Given the description of an element on the screen output the (x, y) to click on. 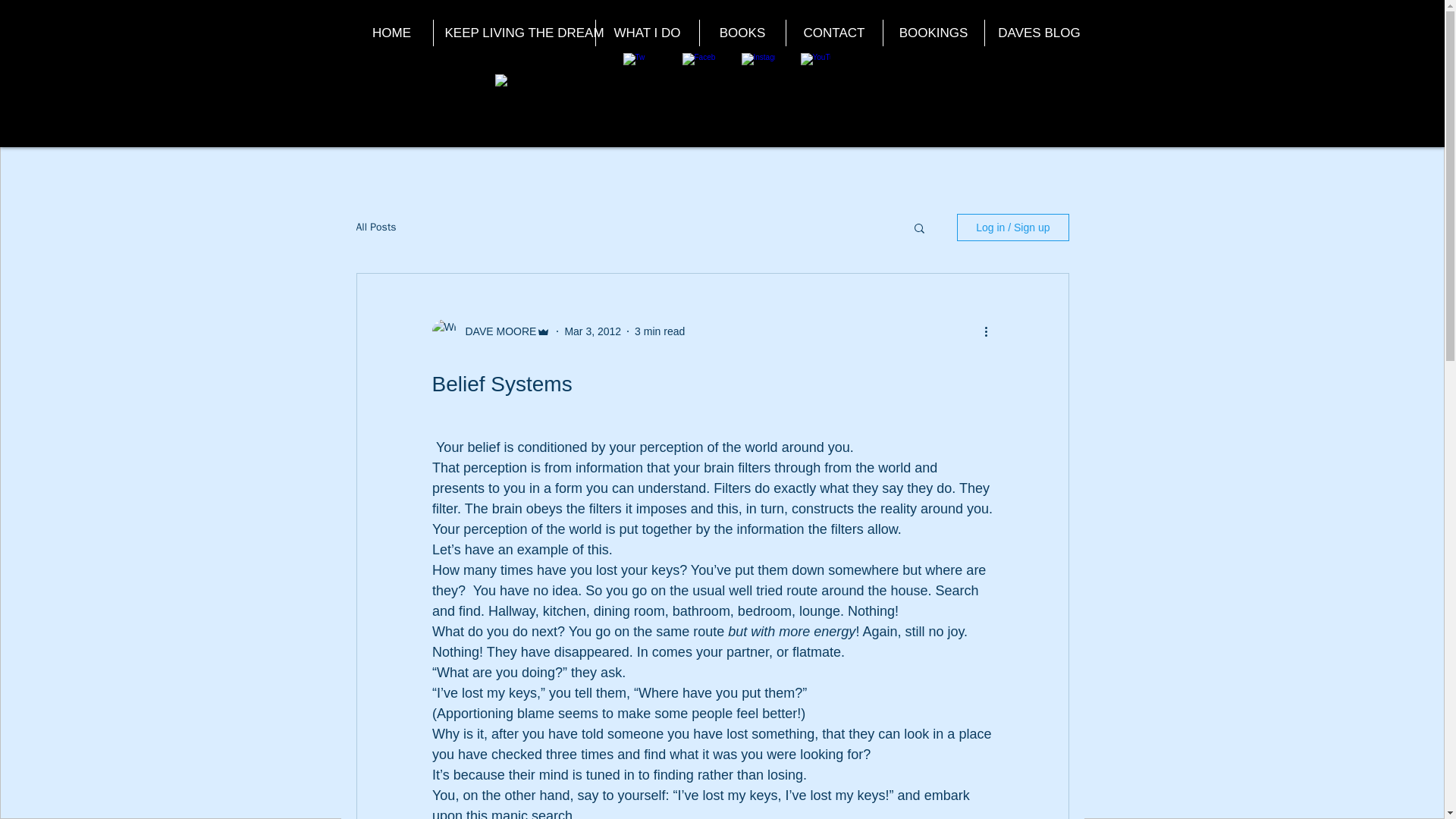
KEEP LIVING THE DREAM (513, 32)
DAVES BLOG (1039, 32)
All Posts (376, 227)
DAVE MOORE (497, 330)
HOME (391, 32)
CONTACT (834, 32)
3 min read (659, 330)
BOOKS (742, 32)
BOOKINGS (933, 32)
Mar 3, 2012 (592, 330)
